Given the description of an element on the screen output the (x, y) to click on. 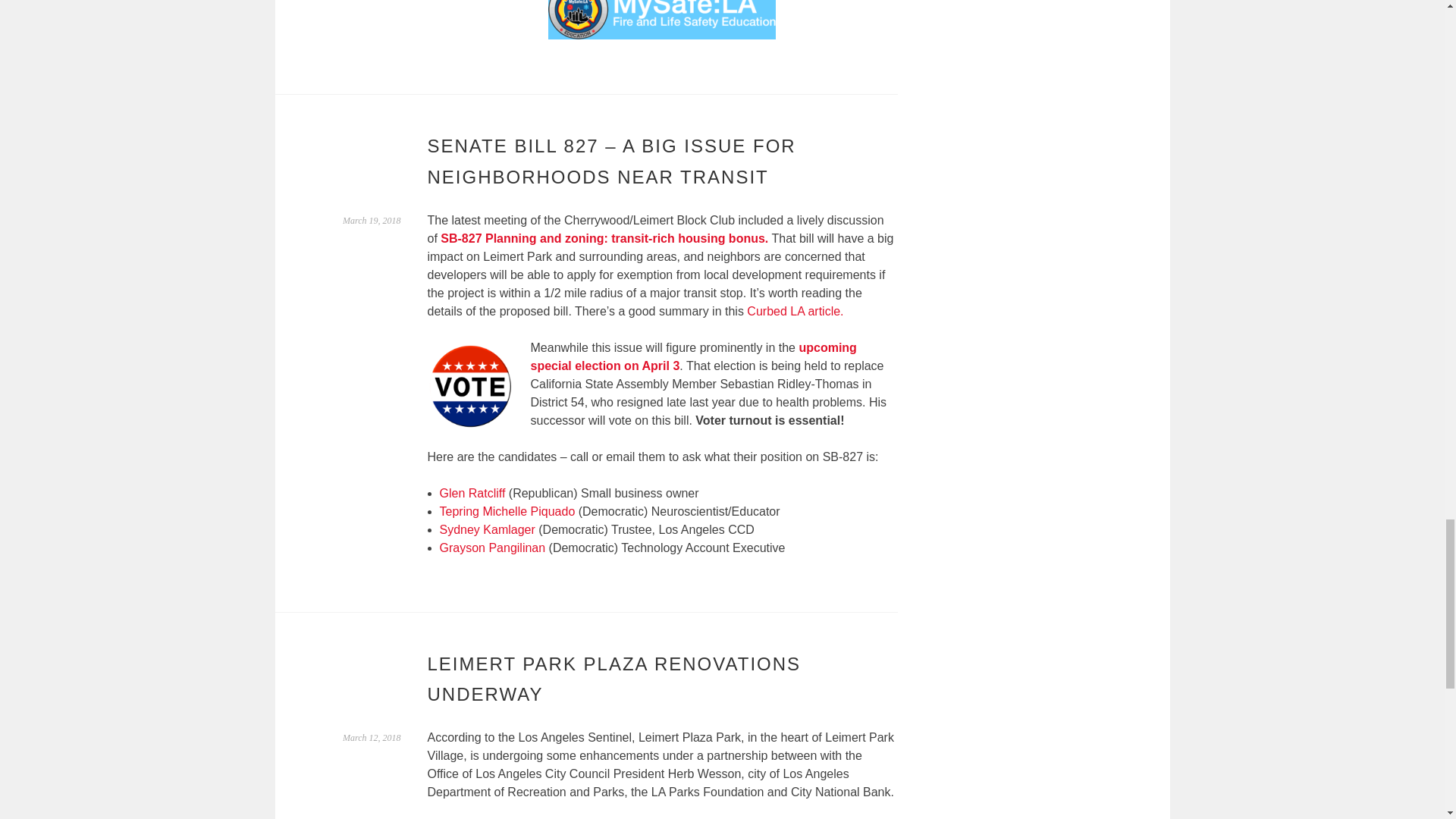
March 19, 2018 (371, 220)
Curbed LA article. (794, 310)
Glen Ratcliff (472, 492)
SB-827 Planning and zoning: transit-rich housing bonus. (604, 237)
Permalink to Leimert Park Plaza renovations underway (371, 737)
upcoming special election on April 3 (694, 356)
